Given the description of an element on the screen output the (x, y) to click on. 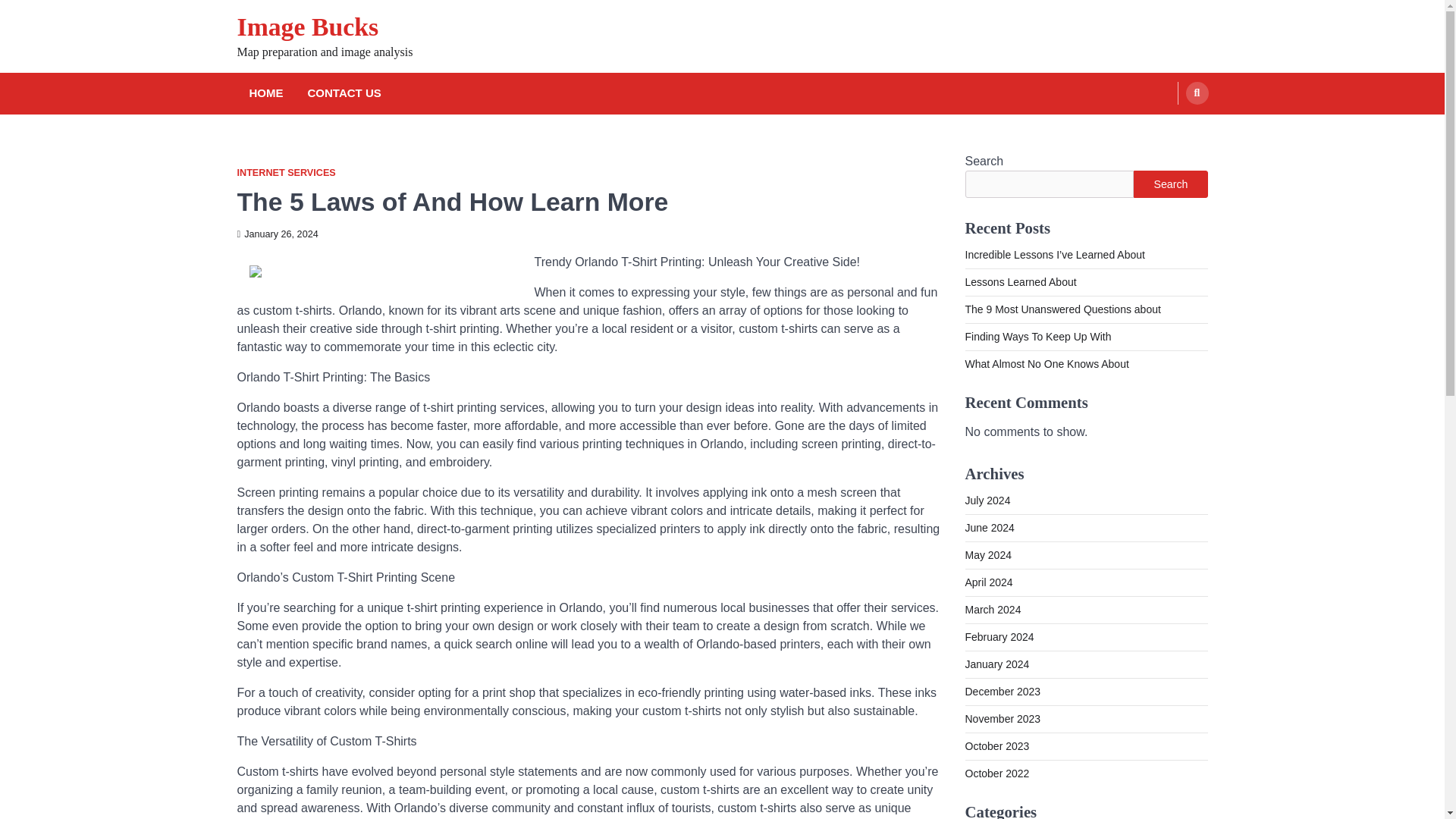
Search (1168, 128)
February 2024 (998, 636)
April 2024 (987, 582)
December 2023 (1002, 691)
Lessons Learned About (1019, 282)
October 2022 (996, 773)
January 2024 (996, 664)
CONTACT US (344, 93)
INTERNET SERVICES (284, 173)
Finding Ways To Keep Up With (1036, 336)
July 2024 (986, 500)
Search (1170, 184)
May 2024 (986, 554)
June 2024 (988, 527)
March 2024 (991, 609)
